Given the description of an element on the screen output the (x, y) to click on. 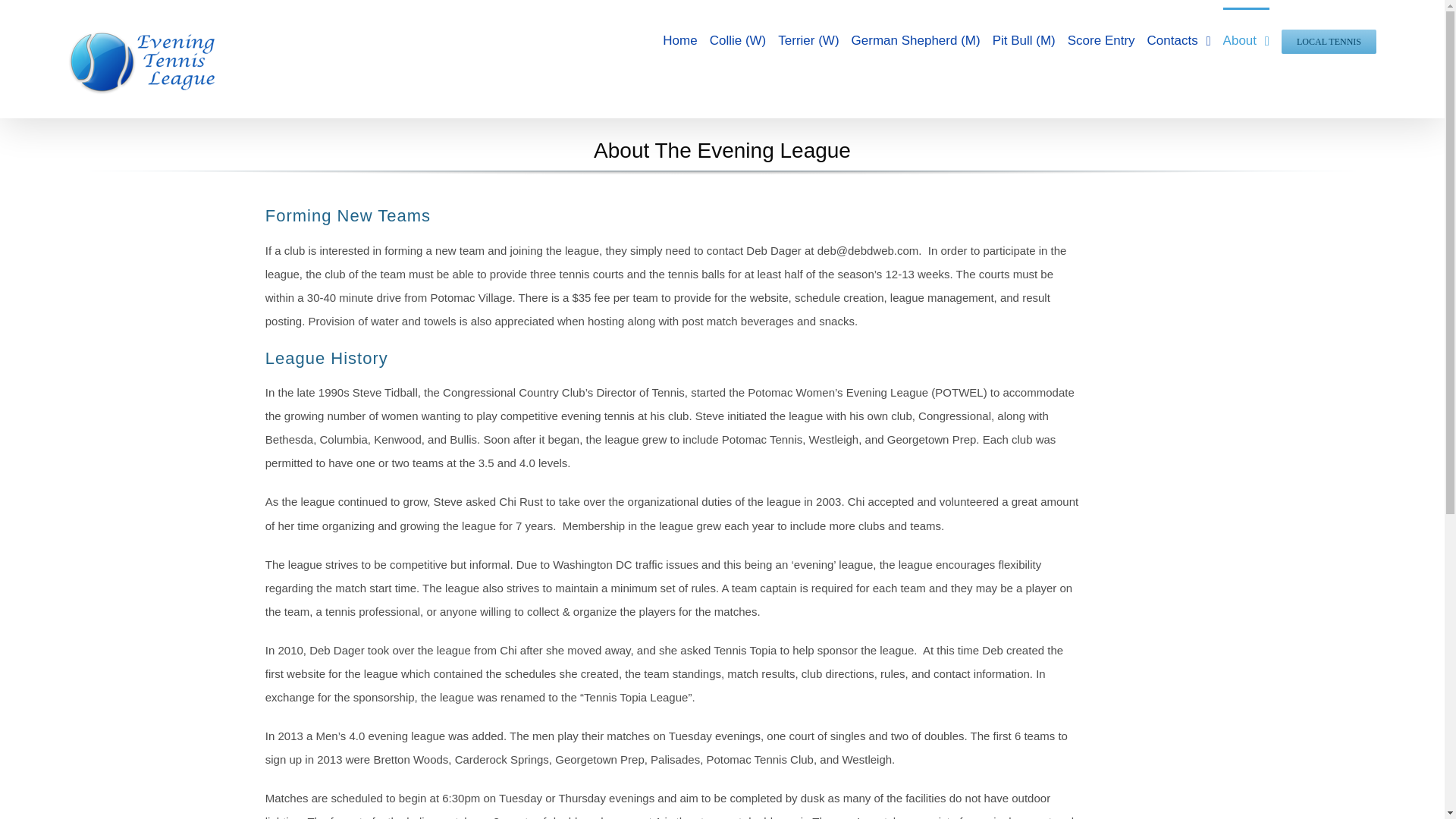
LOCAL TENNIS (1328, 39)
Contacts (1179, 39)
Score Entry (1101, 39)
